Given the description of an element on the screen output the (x, y) to click on. 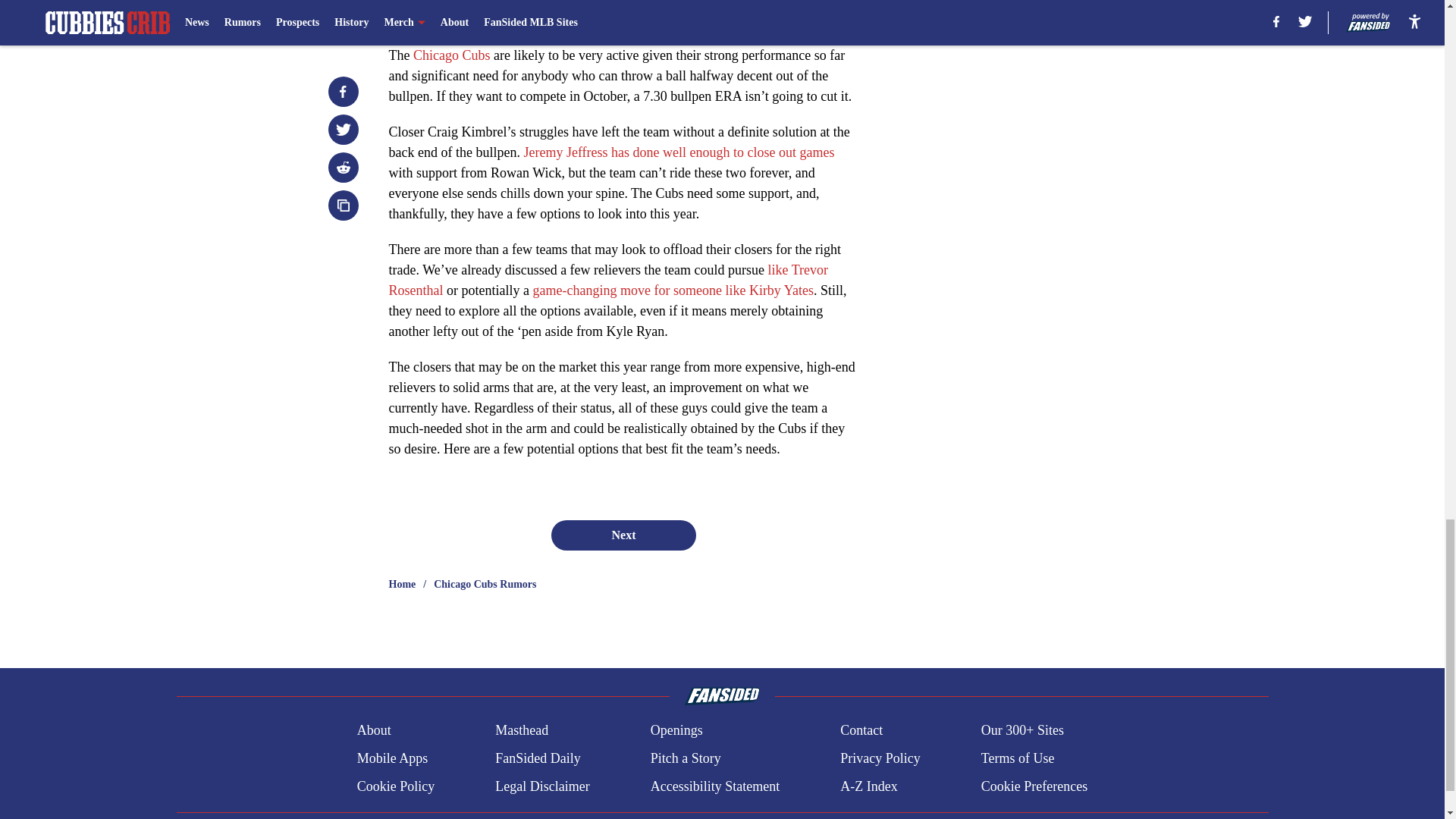
Pitch a Story (685, 758)
Chicago Cubs (451, 55)
Chicago Cubs Rumors (484, 584)
Next (622, 535)
Mobile Apps (392, 758)
like Trevor Rosenthal (608, 280)
Jeremy Jeffress has done well enough to close out games (678, 151)
game-changing move for someone like Kirby Yates (672, 290)
About (373, 730)
Masthead (521, 730)
Contact (861, 730)
Openings (676, 730)
Privacy Policy (880, 758)
FanSided Daily (537, 758)
Home (401, 584)
